Given the description of an element on the screen output the (x, y) to click on. 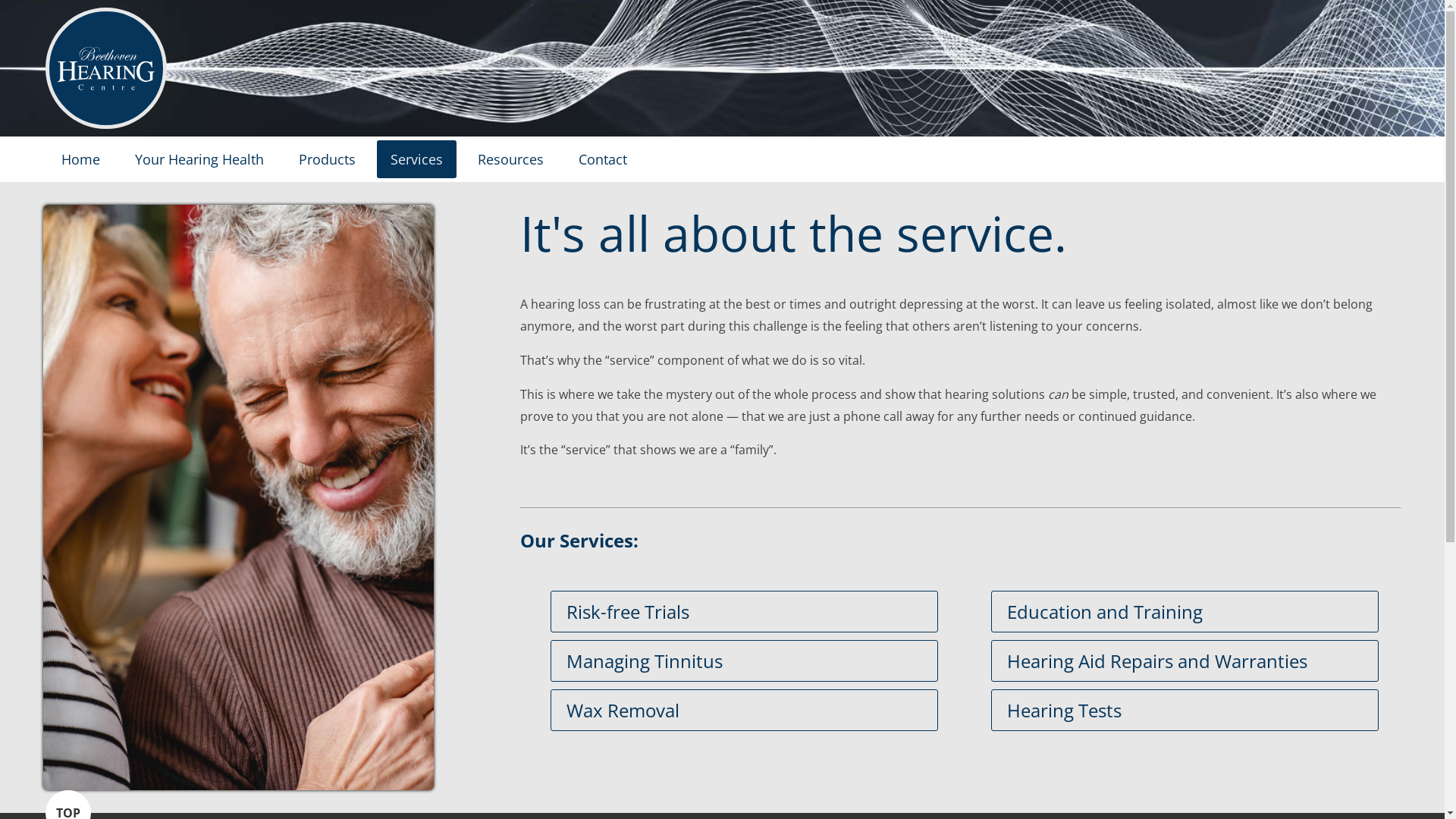
Products Element type: text (327, 159)
Wax Removal Element type: text (744, 710)
Resources Element type: text (510, 159)
Hearing Aid Repairs and Warranties Element type: text (1184, 660)
Education and Training Element type: text (1184, 611)
Managing Tinnitus Element type: text (744, 660)
Home Element type: hover (106, 109)
Risk-free Trials Element type: text (744, 611)
Services Element type: text (416, 159)
Your Hearing Health Element type: text (199, 159)
Home Element type: text (80, 159)
Contact Element type: text (602, 159)
Hearing Tests Element type: text (1184, 710)
